Given the description of an element on the screen output the (x, y) to click on. 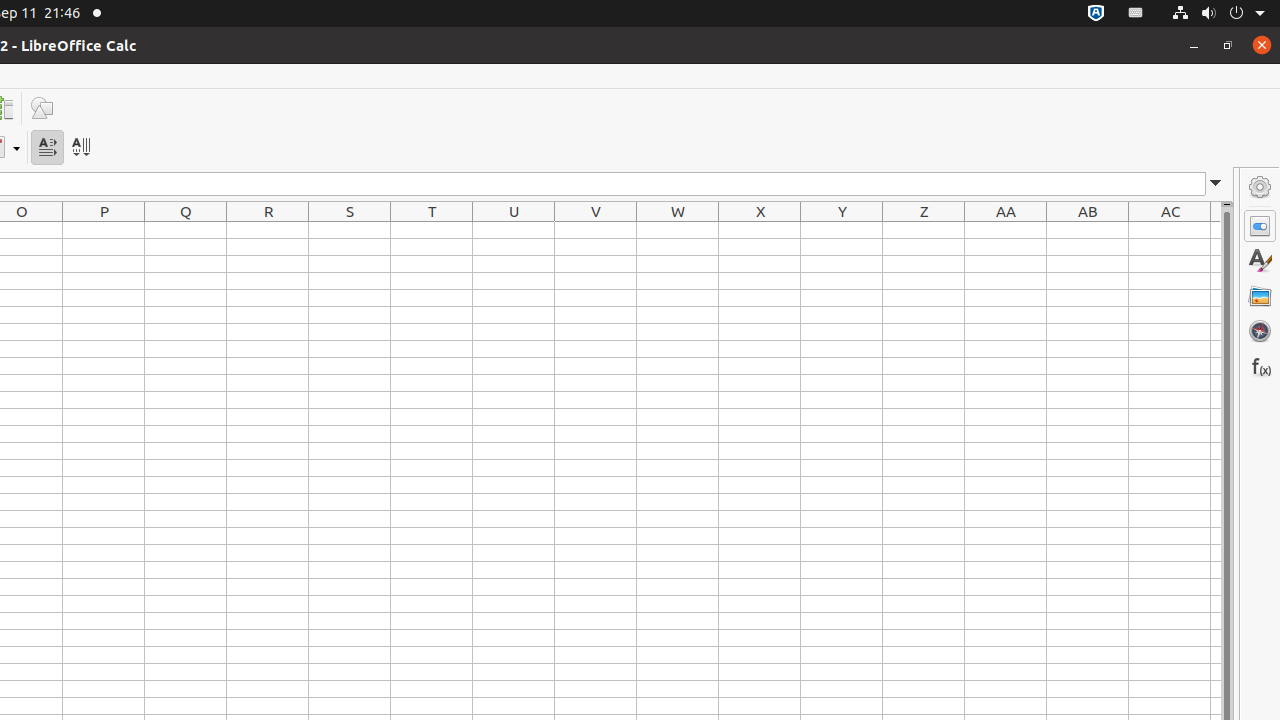
AC1 Element type: table-cell (1170, 230)
Navigator Element type: radio-button (1260, 331)
Gallery Element type: radio-button (1260, 296)
AD1 Element type: table-cell (1216, 230)
Expand Formula Bar Element type: push-button (1216, 183)
